Given the description of an element on the screen output the (x, y) to click on. 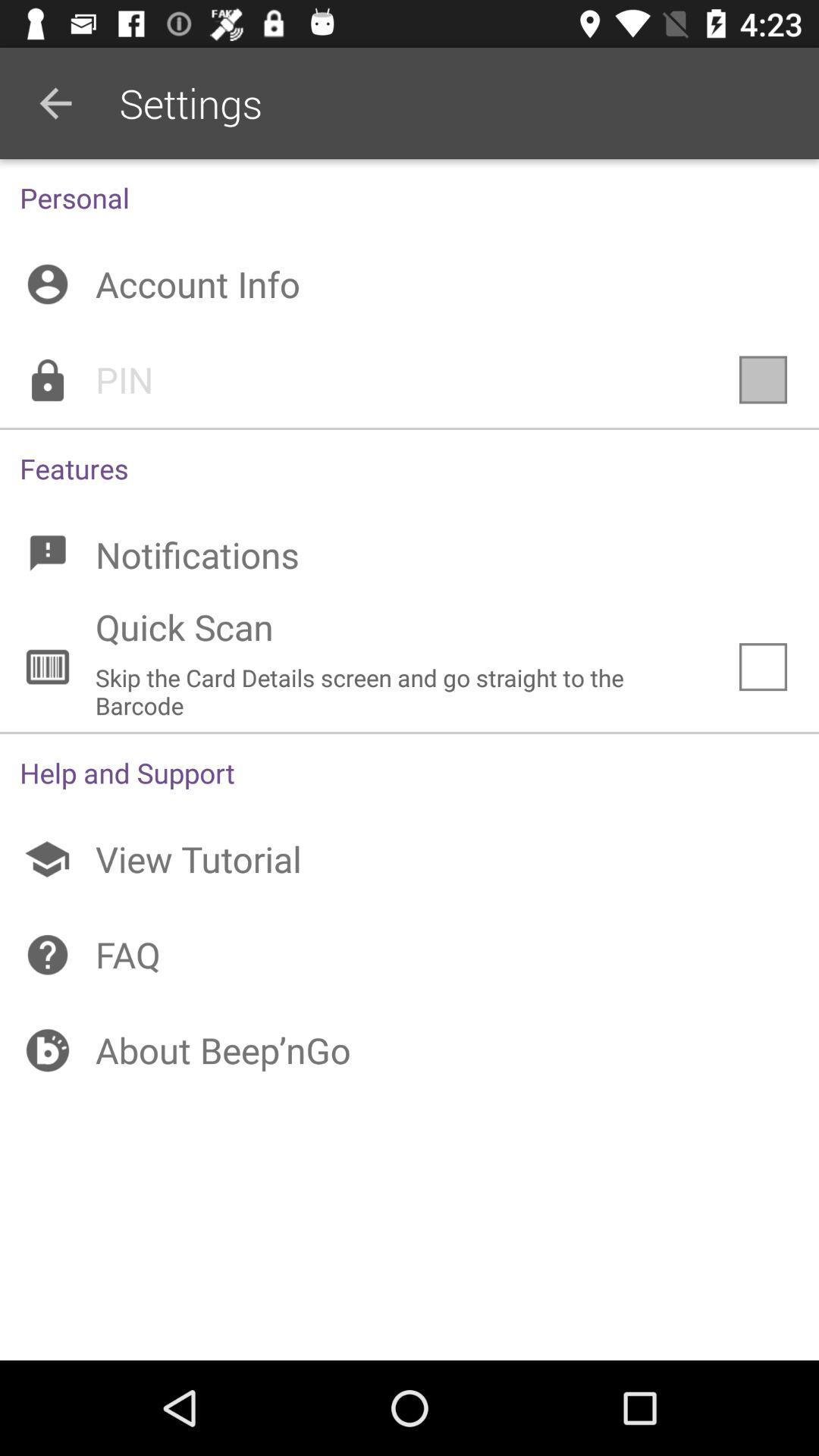
choose icon below the view tutorial item (409, 954)
